Given the description of an element on the screen output the (x, y) to click on. 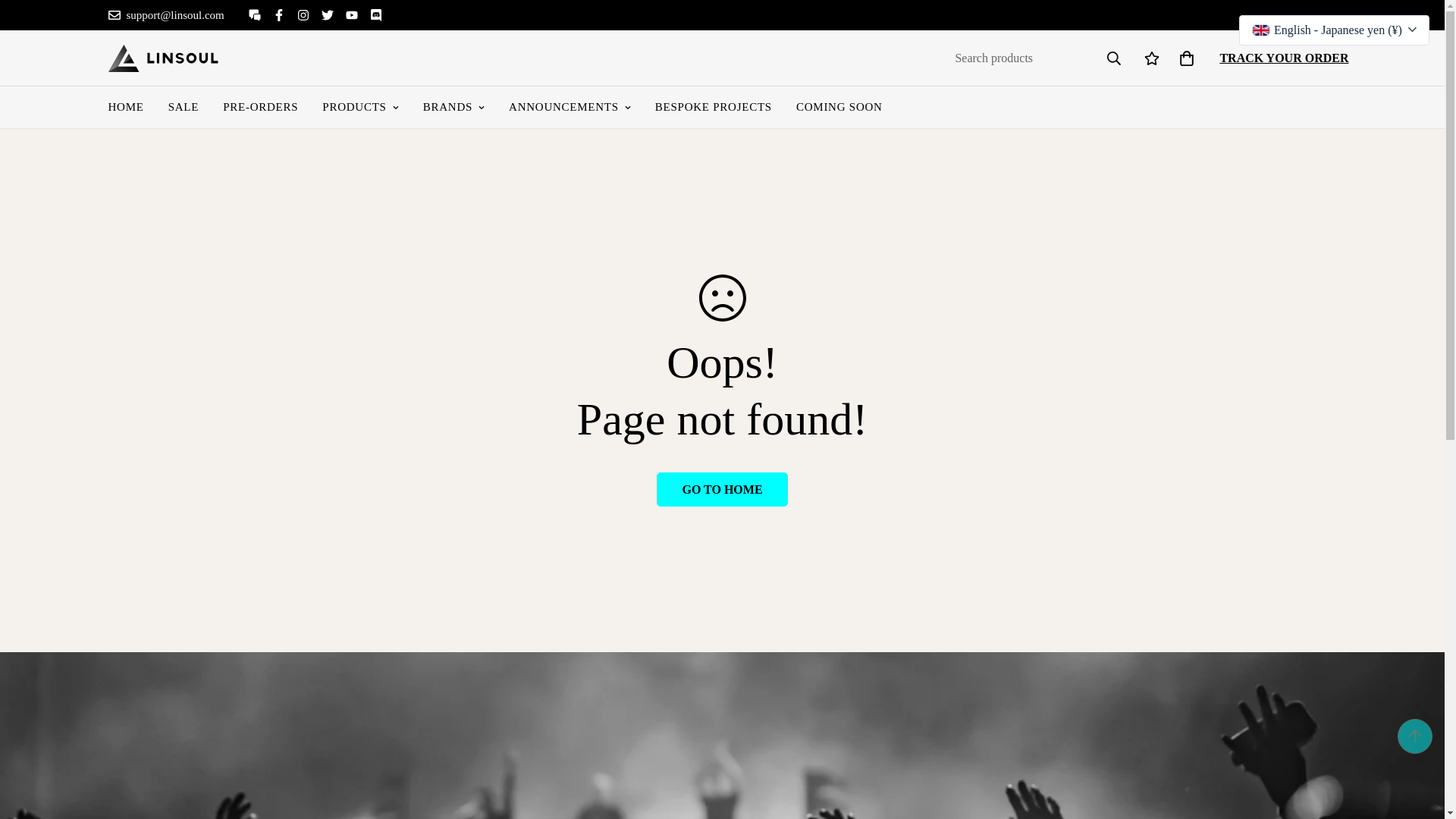
Linsoul-JP (161, 57)
